Given the description of an element on the screen output the (x, y) to click on. 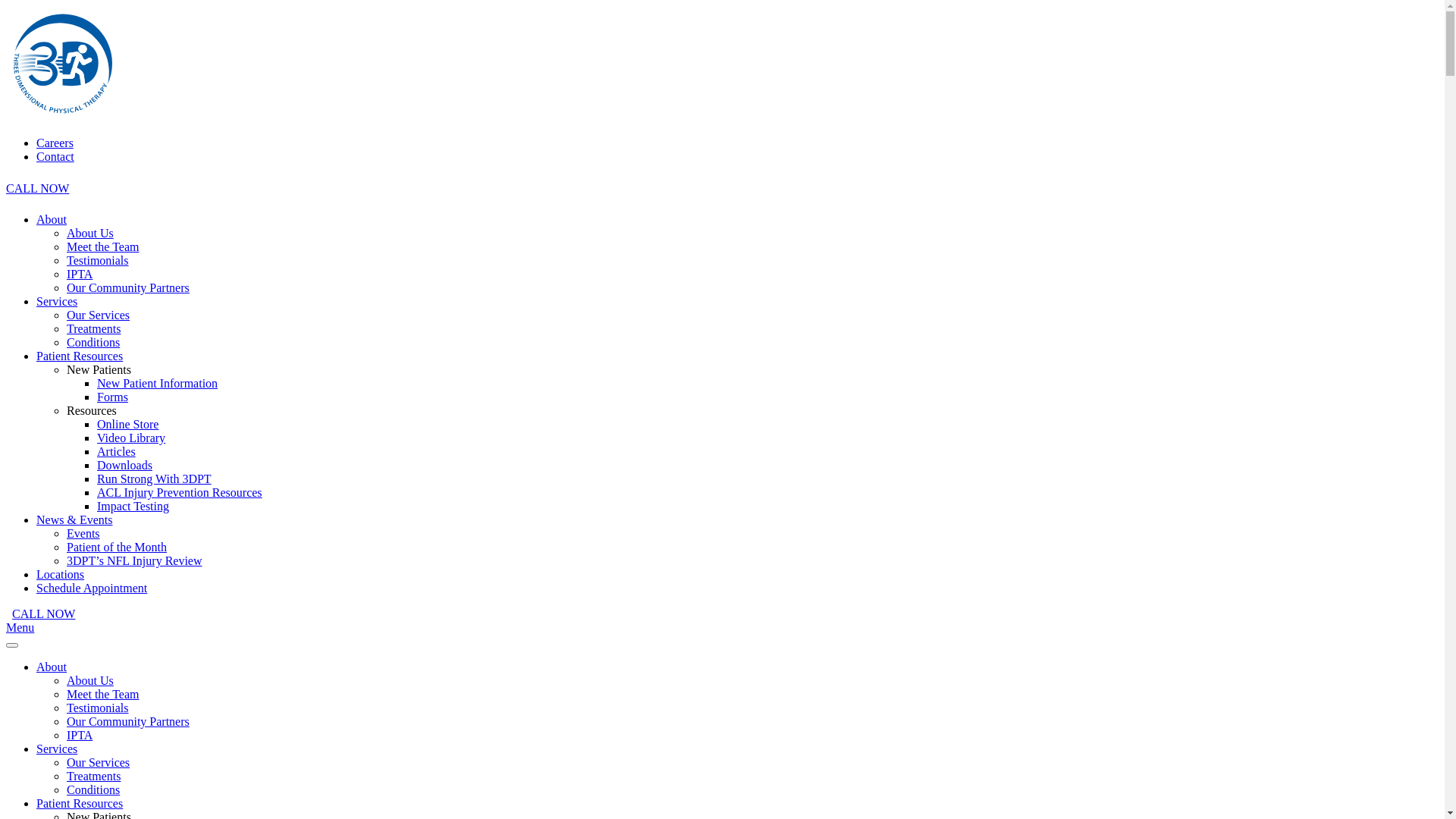
Contact Element type: text (55, 156)
Testimonials Element type: text (97, 707)
Video Library Element type: text (131, 437)
Forms Element type: text (112, 396)
Our Community Partners Element type: text (127, 287)
Locations Element type: text (60, 573)
Testimonials Element type: text (97, 260)
Articles Element type: text (116, 451)
Impact Testing Element type: text (133, 505)
Treatments Element type: text (93, 775)
Meet the Team Element type: text (102, 693)
Our Community Partners Element type: text (127, 721)
3 Dimensional Physical Therapy Element type: hover (62, 116)
Services Element type: text (56, 300)
Careers Element type: text (54, 142)
Our Services Element type: text (97, 762)
Conditions Element type: text (92, 789)
About Us Element type: text (89, 232)
Patient Resources Element type: text (79, 803)
Patient Resources Element type: text (79, 355)
IPTA Element type: text (79, 273)
New Patient Information Element type: text (157, 382)
Menu Element type: text (20, 627)
About Us Element type: text (89, 680)
Downloads Element type: text (124, 464)
CALL NOW Element type: text (43, 613)
Services Element type: text (56, 748)
CALL NOW Element type: text (37, 188)
Online Store Element type: text (127, 423)
Our Services Element type: text (97, 314)
Run Strong With 3DPT Element type: text (154, 478)
News & Events Element type: text (74, 519)
About Element type: text (51, 666)
Events Element type: text (83, 533)
Patient of the Month Element type: text (116, 546)
IPTA Element type: text (79, 734)
Meet the Team Element type: text (102, 246)
Treatments Element type: text (93, 328)
Conditions Element type: text (92, 341)
ACL Injury Prevention Resources Element type: text (179, 492)
Schedule Appointment Element type: text (91, 587)
About Element type: text (51, 219)
